Given the description of an element on the screen output the (x, y) to click on. 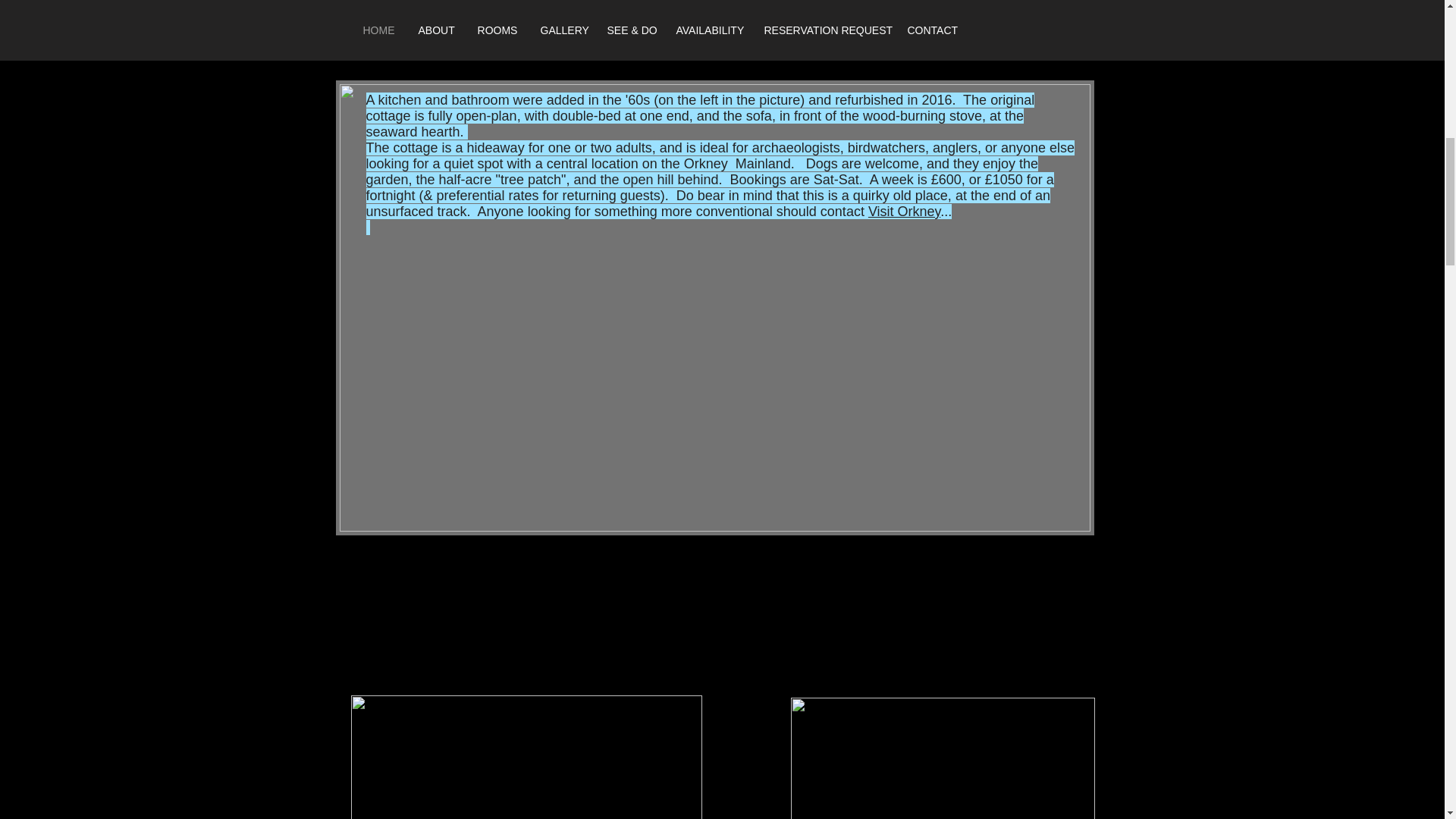
Visit Orkney (903, 211)
